Given the description of an element on the screen output the (x, y) to click on. 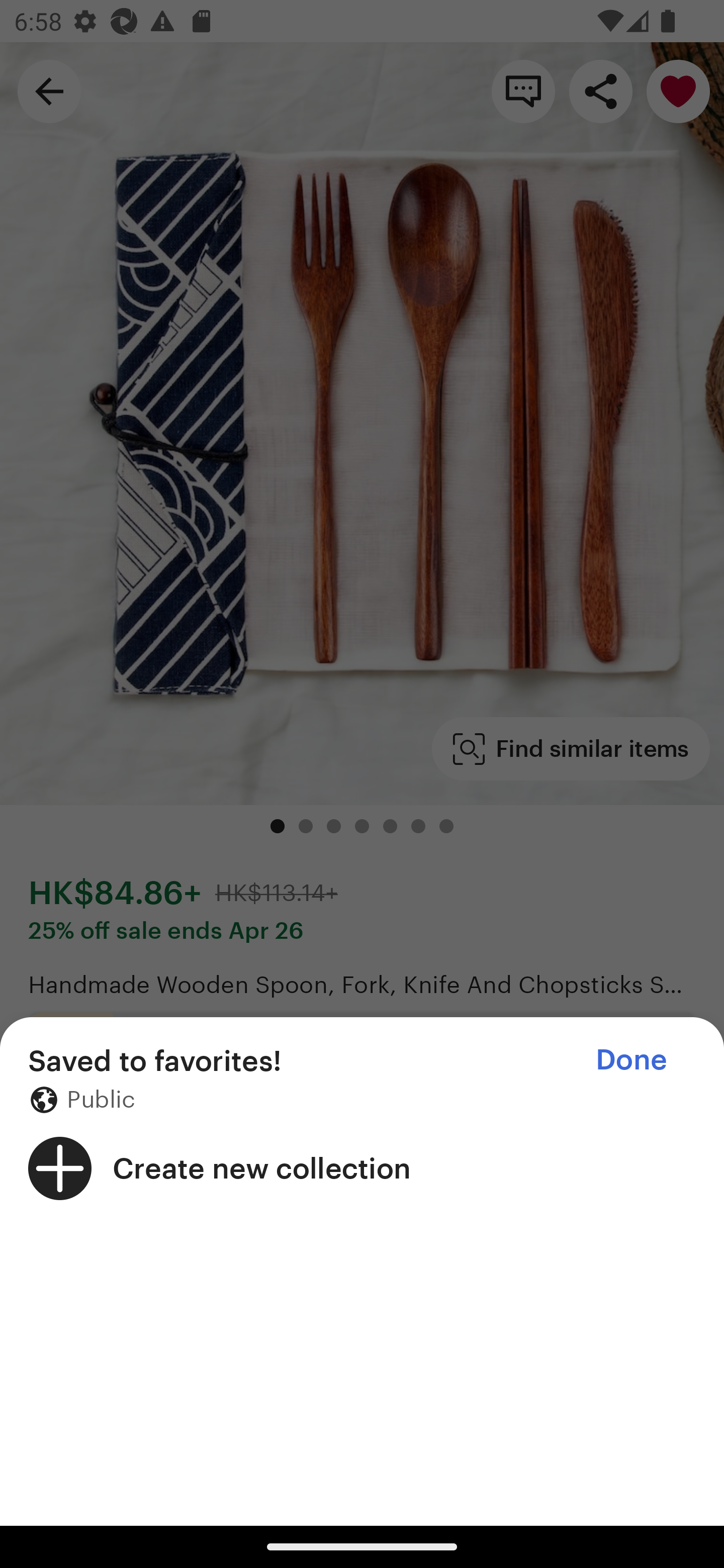
Done (630, 1059)
Create new collection (361, 1167)
